Given the description of an element on the screen output the (x, y) to click on. 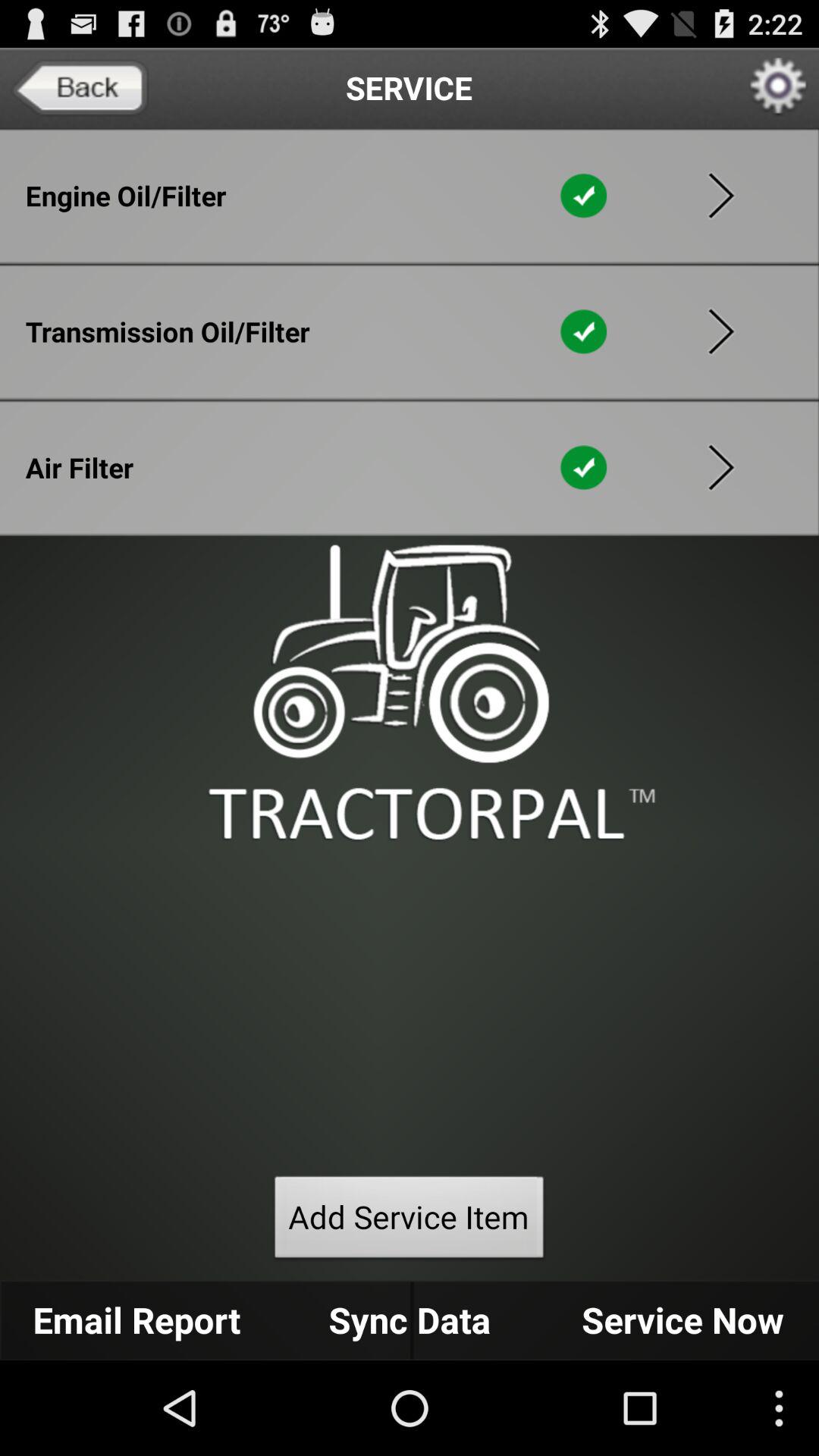
open (721, 331)
